Given the description of an element on the screen output the (x, y) to click on. 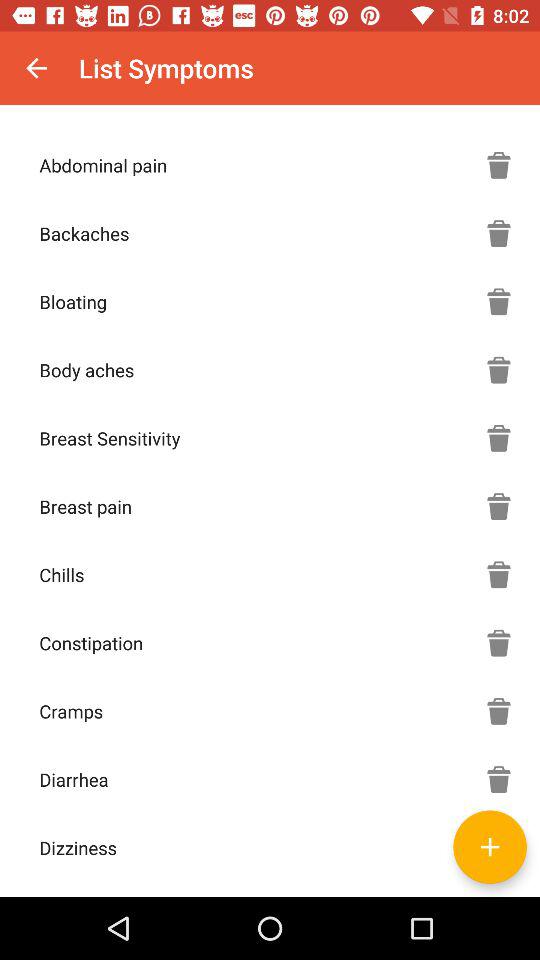
delete (499, 711)
